Given the description of an element on the screen output the (x, y) to click on. 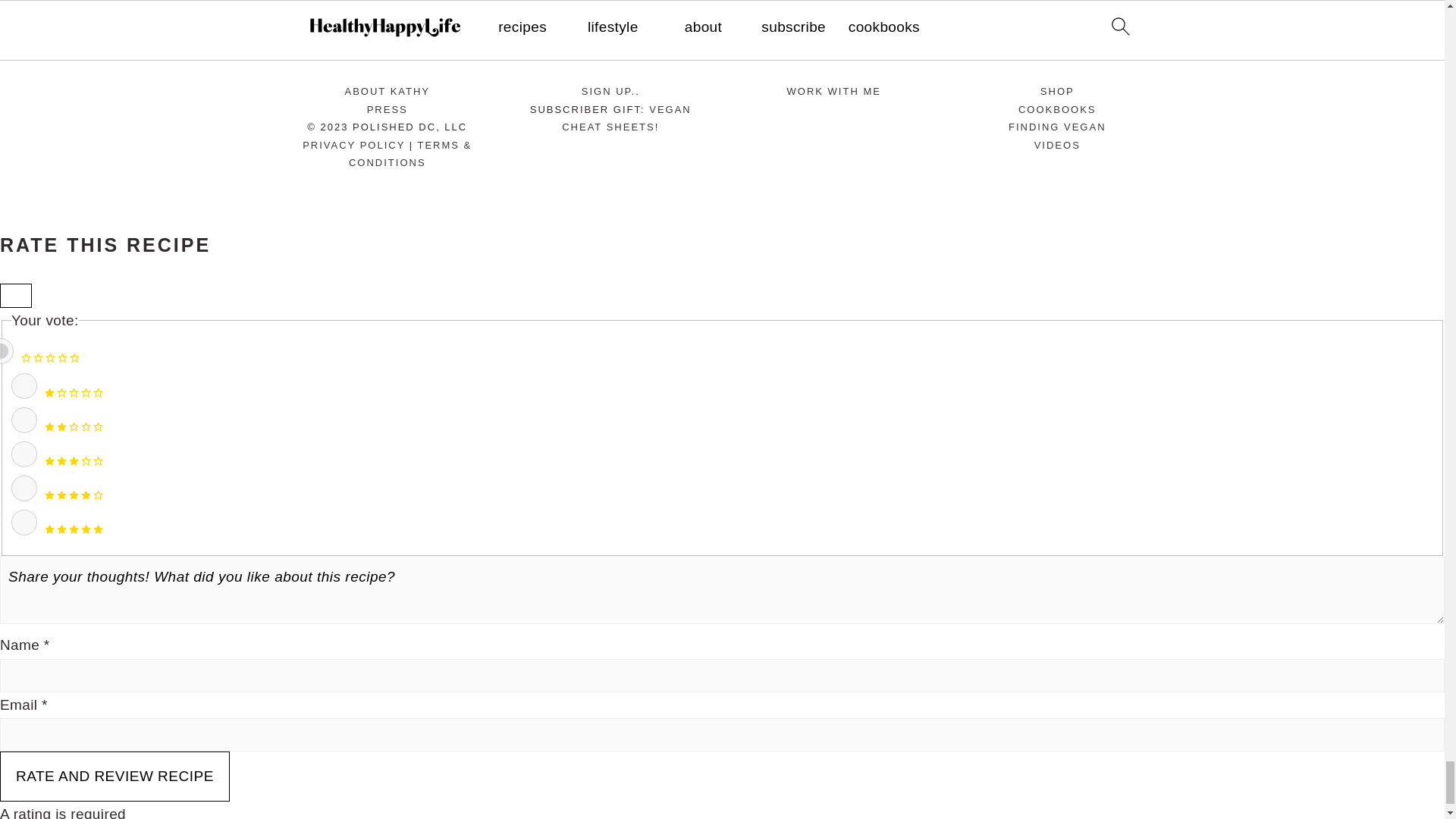
4 (24, 488)
5 (24, 522)
1 (24, 385)
2 (24, 420)
3 (24, 453)
